Given the description of an element on the screen output the (x, y) to click on. 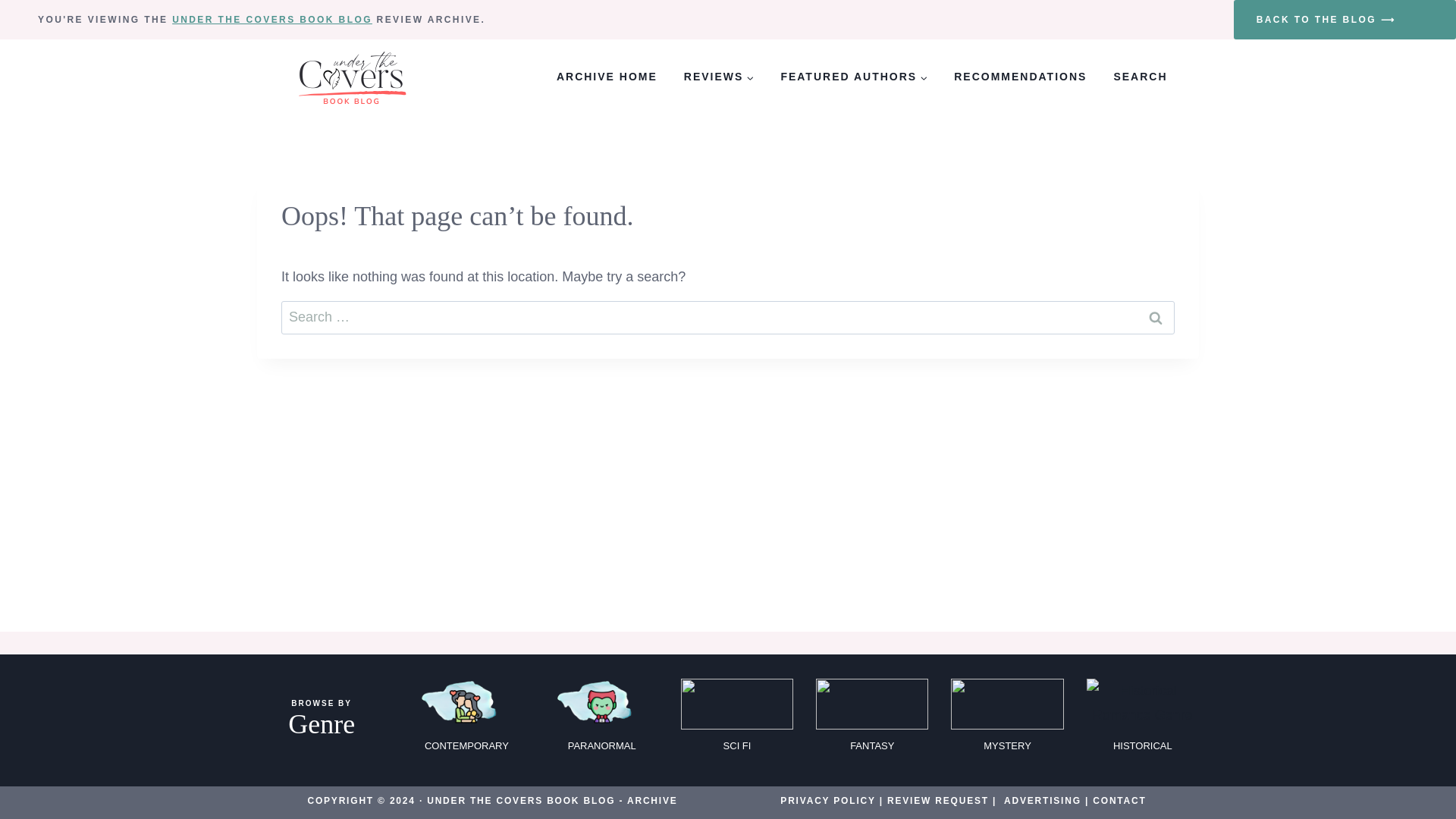
MYSTERY (1006, 720)
Search (1155, 317)
CONTACT (1119, 800)
SEARCH (1140, 77)
SCI FI (737, 720)
PRIVACY POLICY (827, 800)
Search (1155, 317)
Search (1155, 317)
ARCHIVE HOME (606, 77)
ADVERTISING (1042, 800)
RECOMMENDATIONS (1020, 77)
UNDER THE COVERS BOOK BLOG (271, 19)
CONTEMPORARY (466, 720)
PARANORMAL (602, 720)
REVIEW REQUEST (937, 800)
